Given the description of an element on the screen output the (x, y) to click on. 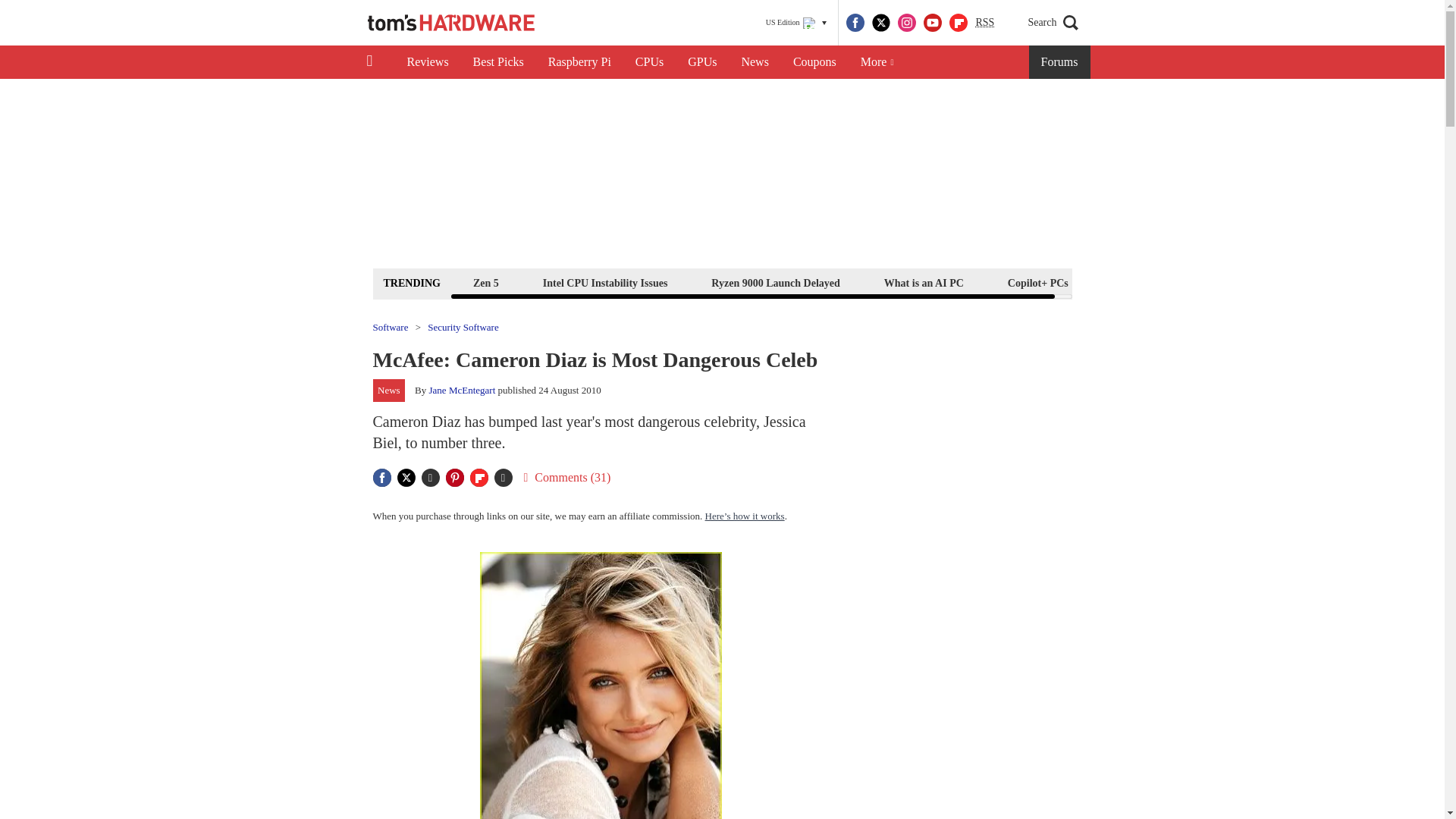
Best Picks (498, 61)
CPUs (649, 61)
Raspberry Pi (579, 61)
US Edition (796, 22)
GPUs (702, 61)
Zen 5 (485, 282)
Coupons (814, 61)
News (754, 61)
Forums (1059, 61)
RSS (984, 22)
Really Simple Syndication (984, 21)
Reviews (427, 61)
